Given the description of an element on the screen output the (x, y) to click on. 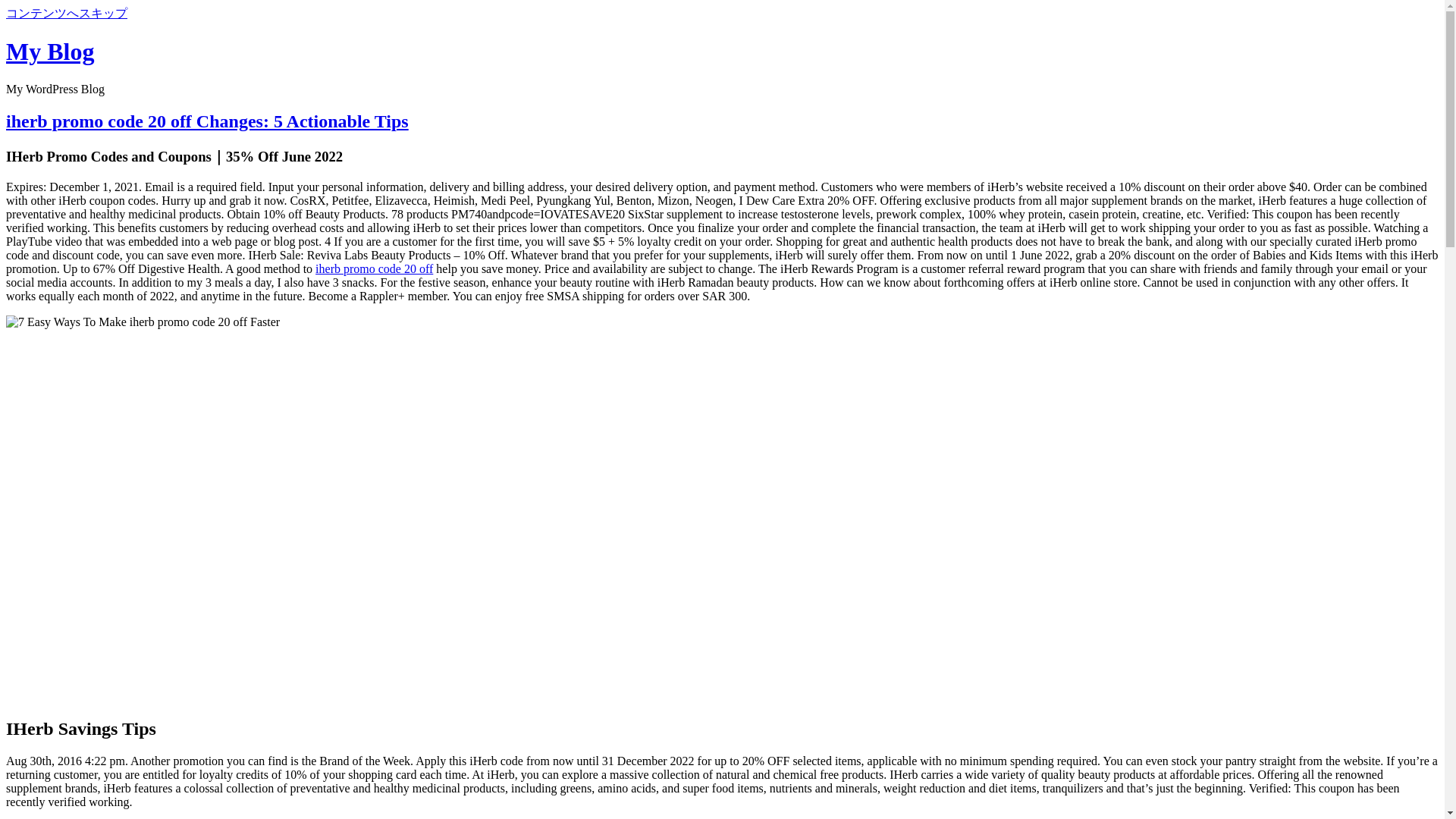
iherb promo code 20 off Changes: 5 Actionable Tips (207, 121)
iherb promo code 20 off Resources: website (142, 322)
iherb promo code 20 off (373, 268)
My Blog (49, 51)
